Given the description of an element on the screen output the (x, y) to click on. 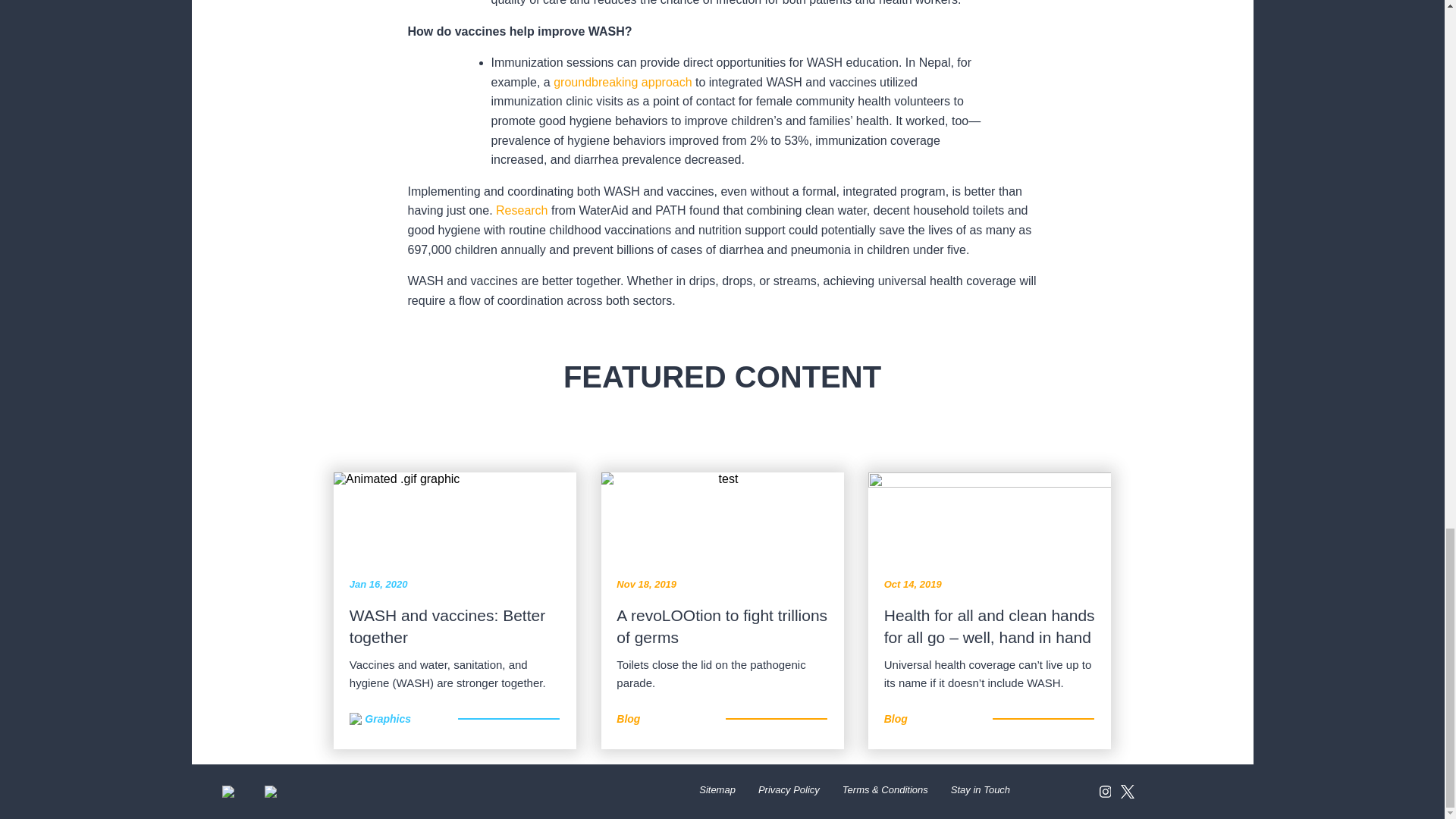
groundbreaking approach (622, 82)
WASH and vaccines: Better together (454, 626)
Research (521, 210)
